Given the description of an element on the screen output the (x, y) to click on. 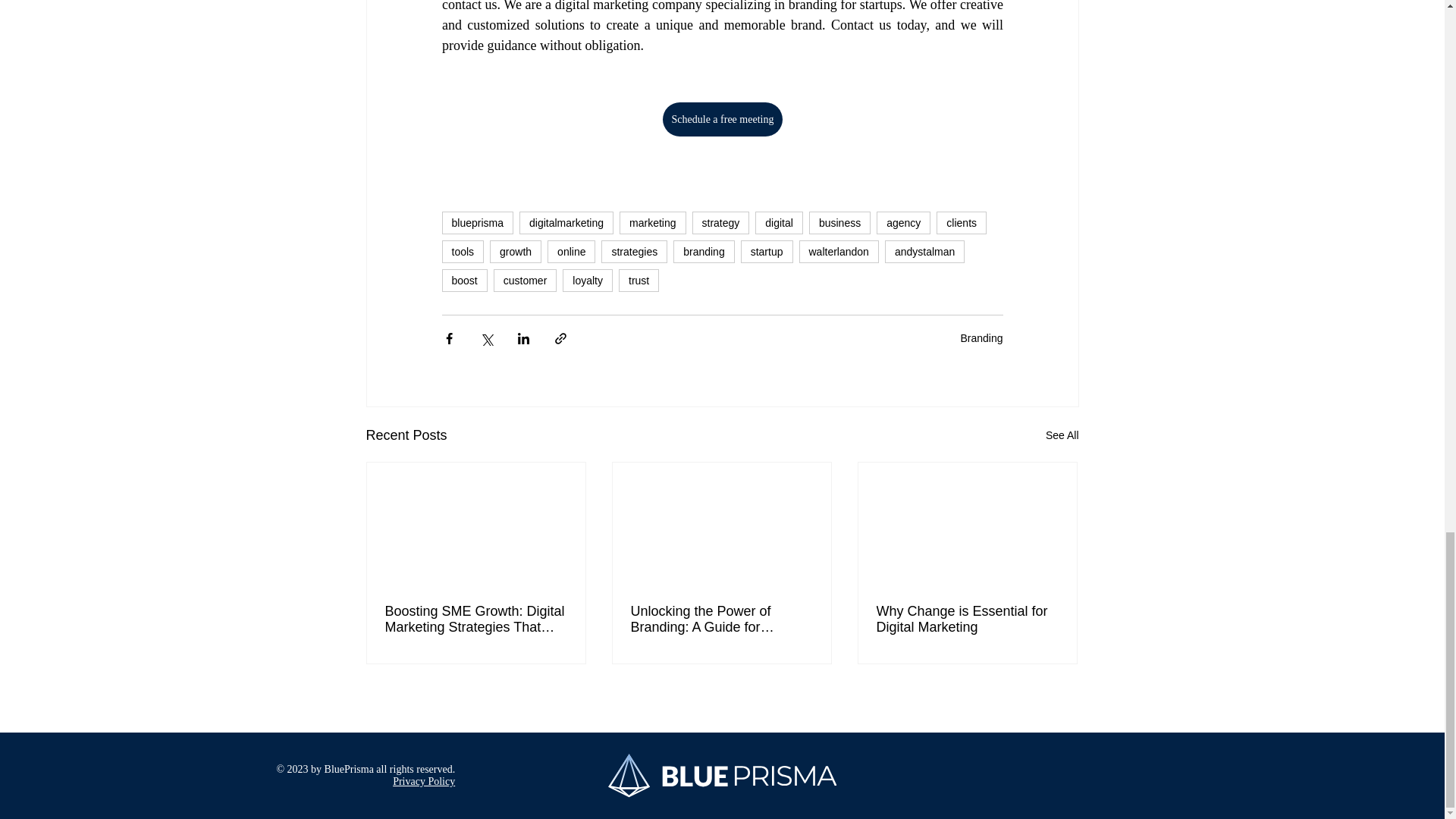
online (571, 251)
blueprisma (476, 222)
startup (767, 251)
Branding (981, 337)
andystalman (924, 251)
trust (638, 280)
agency (903, 222)
Schedule a free meeting (722, 119)
customer (525, 280)
strategies (633, 251)
tools (462, 251)
growth (515, 251)
business (839, 222)
branding (703, 251)
clients (961, 222)
